Given the description of an element on the screen output the (x, y) to click on. 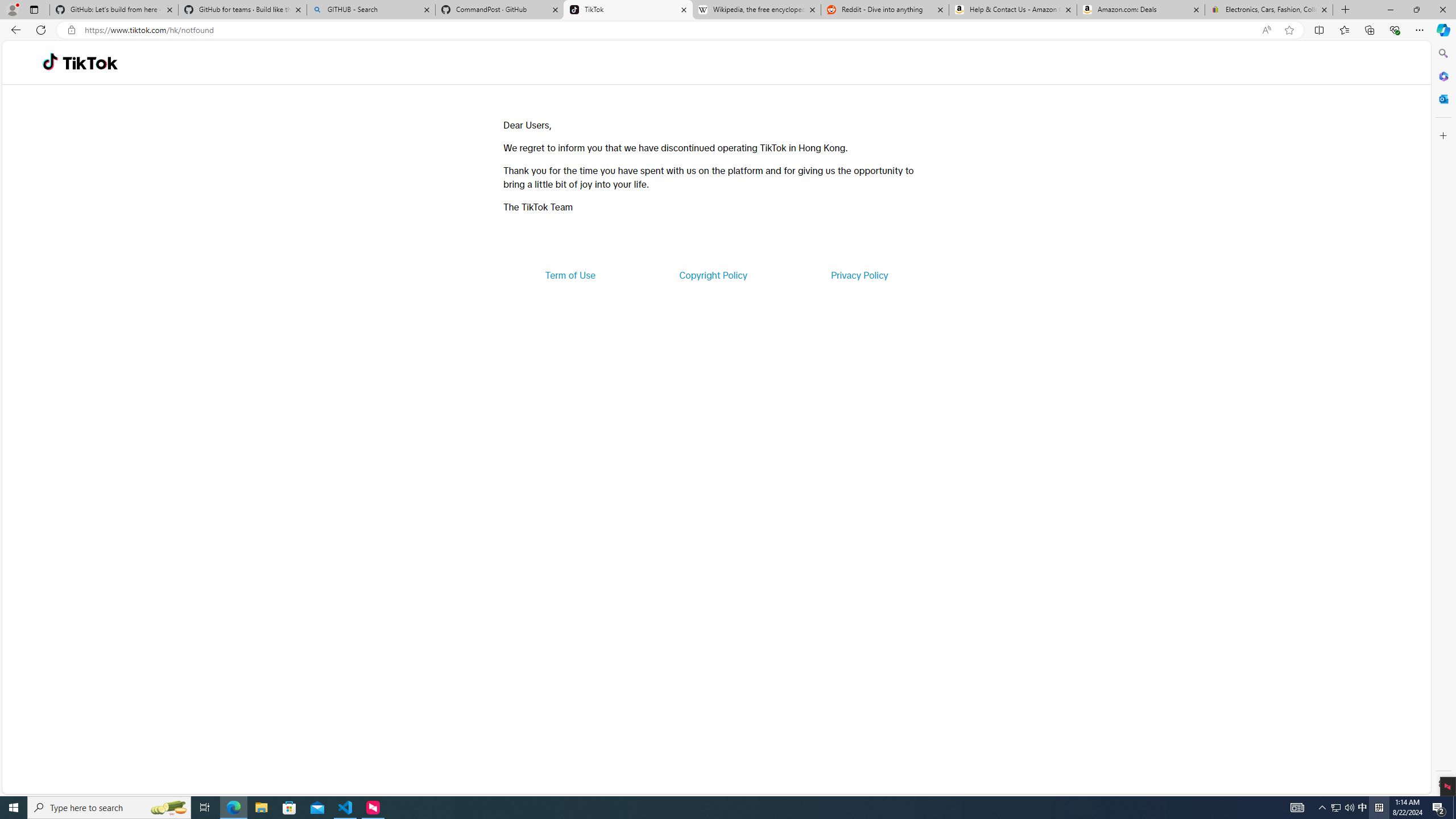
TikTok (628, 9)
Copyright Policy (712, 274)
Privacy Policy (858, 274)
Wikipedia, the free encyclopedia (756, 9)
